Given the description of an element on the screen output the (x, y) to click on. 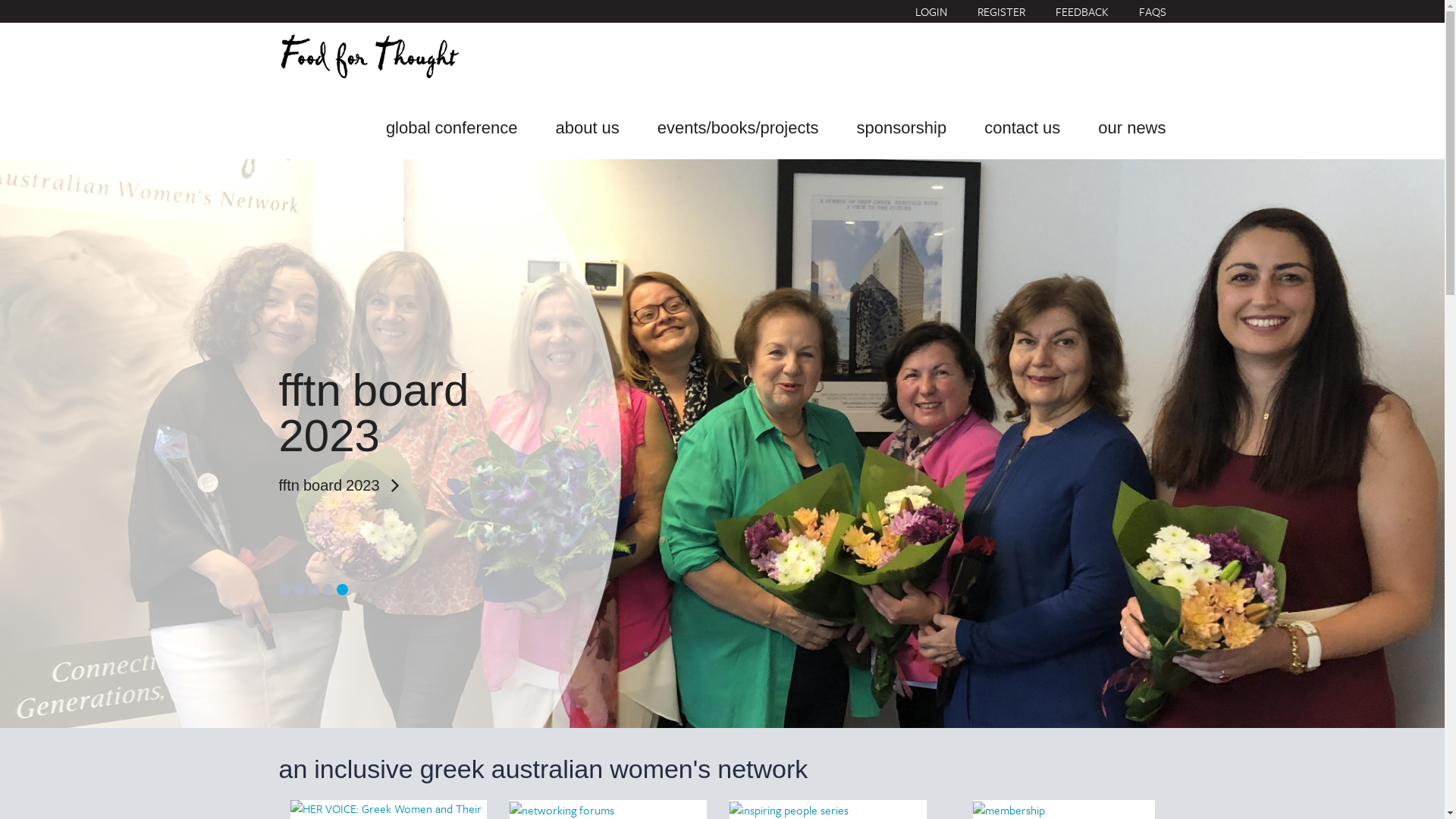
about us Element type: text (586, 125)
fftn board 2023 Element type: text (383, 484)
sponsorship Element type: text (901, 125)
Food For Thought Network Element type: hover (369, 56)
3 Element type: text (313, 589)
2 Element type: text (298, 589)
our news Element type: text (1131, 125)
events/books/projects Element type: text (738, 125)
FAQS Element type: text (1152, 11)
global conference Element type: text (451, 125)
5 Element type: text (342, 589)
contact us Element type: text (1022, 125)
FEEDBACK Element type: text (1081, 11)
LOGIN Element type: text (930, 11)
1 Element type: text (284, 589)
REGISTER Element type: text (1000, 11)
4 Element type: text (326, 589)
